Given the description of an element on the screen output the (x, y) to click on. 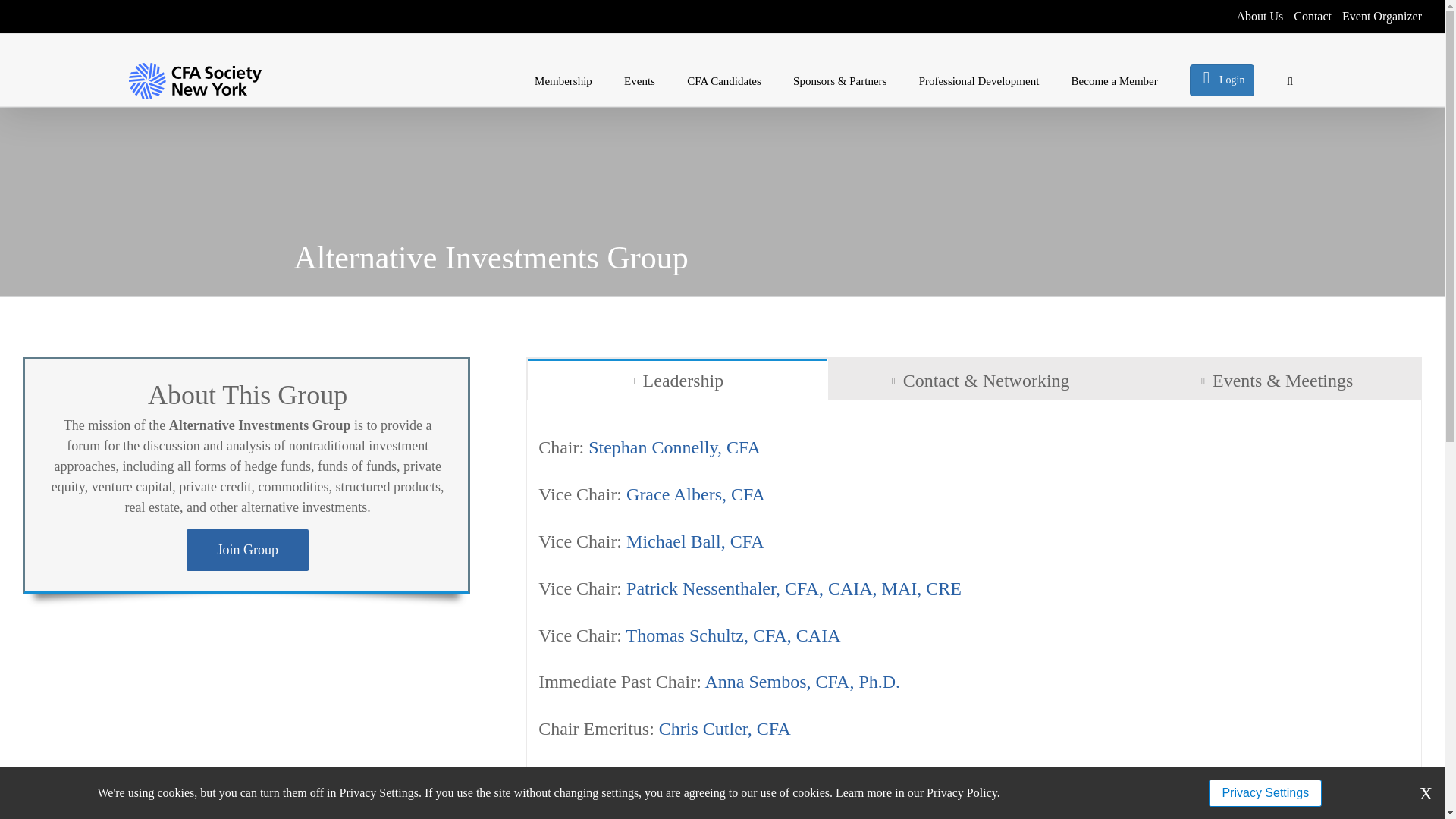
Become a Member (1114, 81)
Contact (1308, 16)
Professional Development (978, 81)
CFA Candidates (724, 81)
Event Organizer (1377, 16)
Membership (563, 81)
About Us (1253, 16)
